Given the description of an element on the screen output the (x, y) to click on. 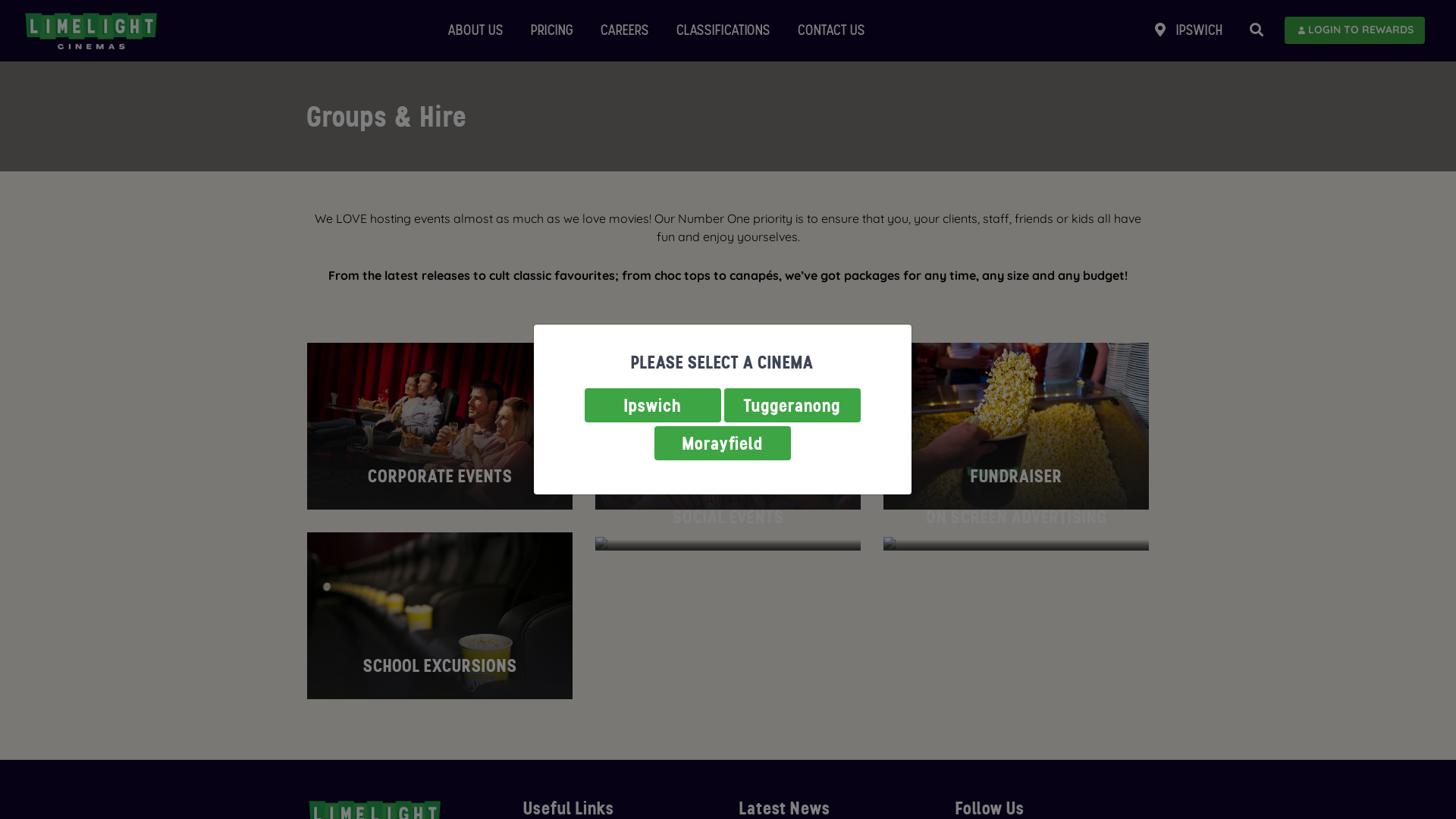
FUNDRAISER Element type: text (1015, 425)
SCHOOL EXCURSIONS Element type: text (439, 615)
BIRTHDAY PARTIES Element type: text (727, 425)
CONTACT US Element type: text (831, 30)
Ipswich Element type: text (651, 405)
ABOUT US Element type: text (475, 30)
CAREERS Element type: text (624, 30)
CLASSIFICATIONS Element type: text (723, 30)
SOCIAL EVENTS Element type: text (727, 541)
IPSWICH Element type: text (1188, 30)
ON SCREEN ADVERTISING Element type: text (1015, 541)
PRICING Element type: text (551, 30)
LOGIN TO REWARDS Element type: text (1354, 29)
Tuggeranong Element type: text (791, 405)
CORPORATE EVENTS Element type: text (439, 425)
Morayfield Element type: text (721, 443)
